Given the description of an element on the screen output the (x, y) to click on. 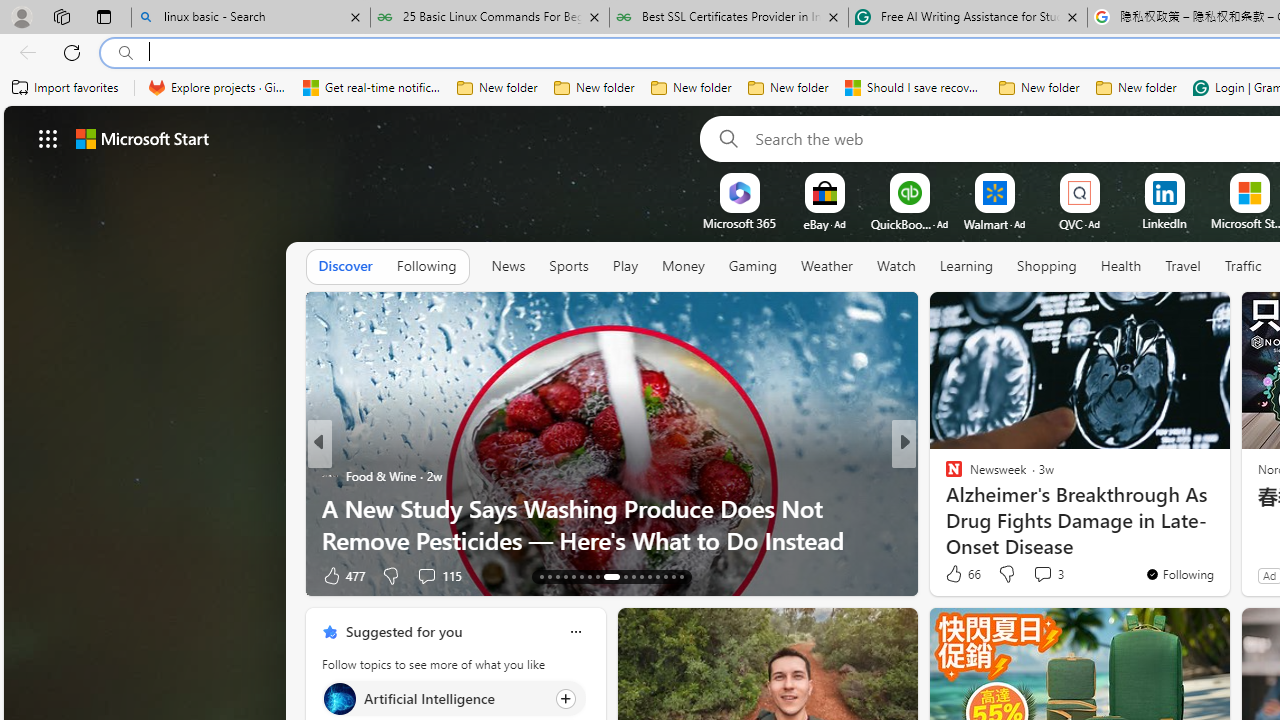
AutomationID: waffle (47, 138)
Travel (1183, 265)
Suggested for you (404, 631)
66 Like (961, 574)
68 Like (956, 574)
Gaming (752, 267)
25 Basic Linux Commands For Beginners - GeeksforGeeks (490, 17)
Free AI Writing Assistance for Students | Grammarly (967, 17)
Travel (1183, 267)
AutomationID: tab-28 (673, 576)
Watch (896, 267)
